Given the description of an element on the screen output the (x, y) to click on. 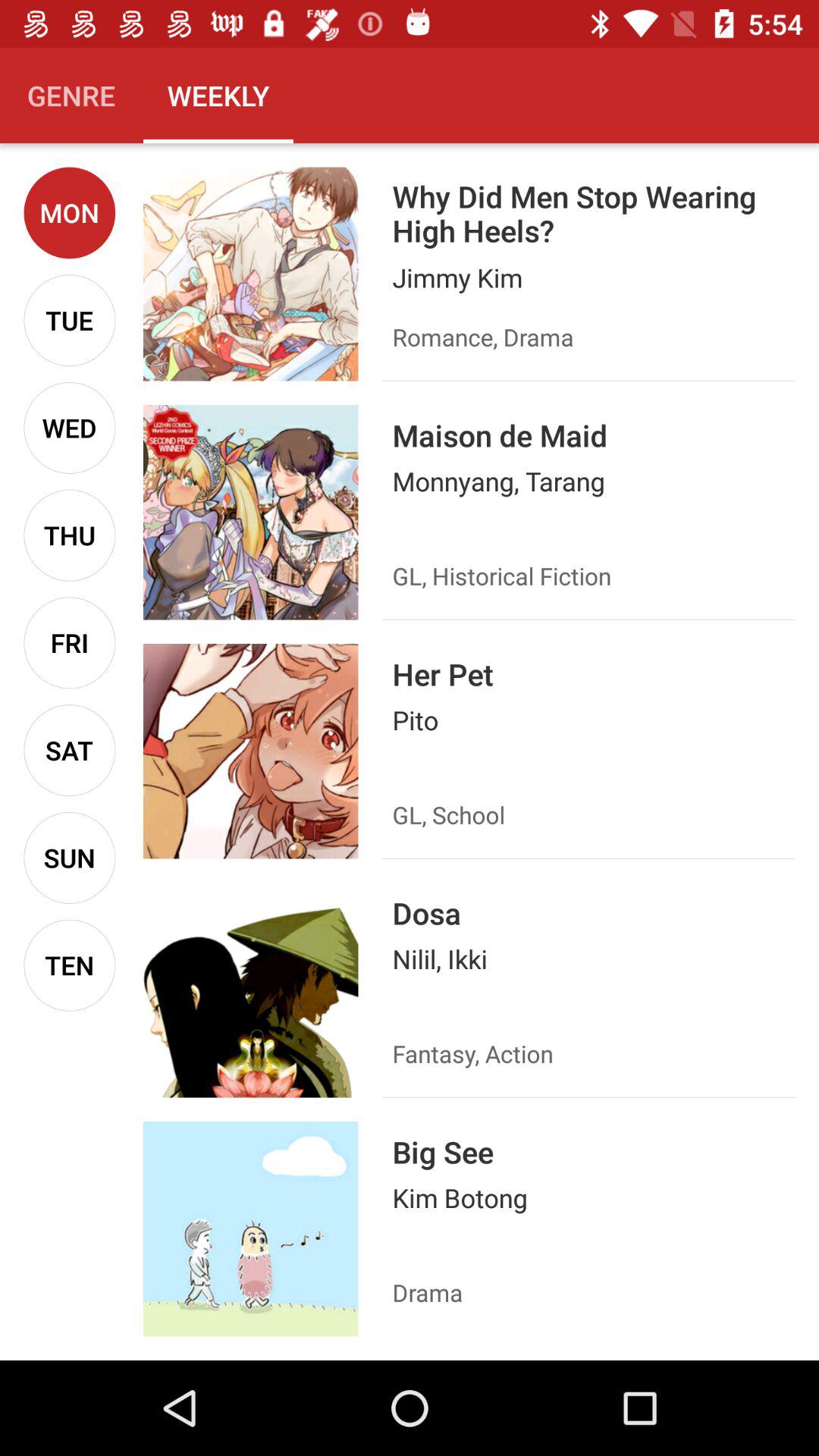
swipe until the fri (69, 642)
